Given the description of an element on the screen output the (x, y) to click on. 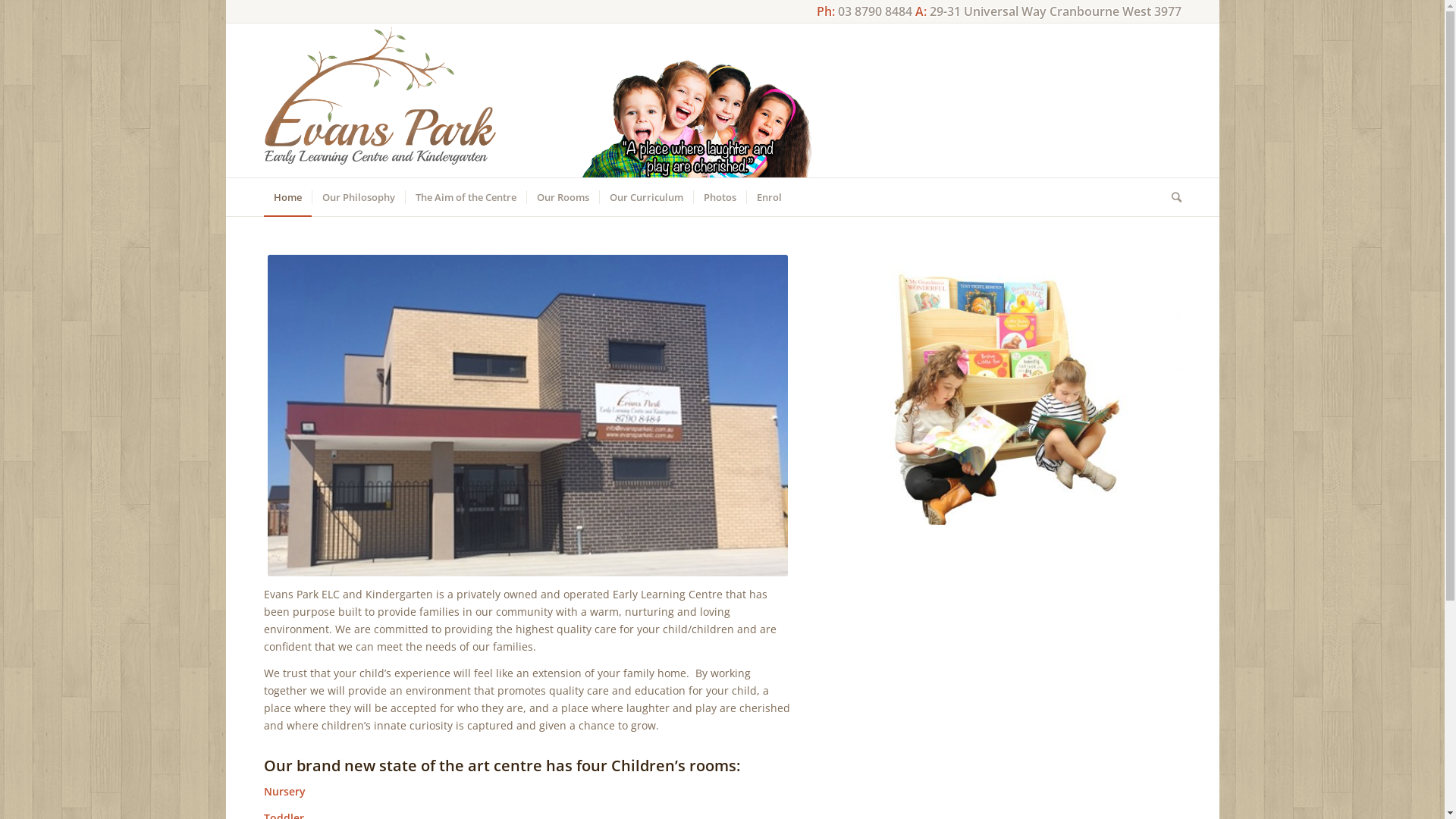
Our Rooms Element type: text (562, 197)
Photos Element type: text (719, 197)
Our Philosophy Element type: text (357, 197)
bookshelf-01 Element type: hover (1013, 389)
Evans Park Element type: hover (527, 415)
Our Curriculum Element type: text (646, 197)
Enrol Element type: text (768, 197)
Home Element type: text (287, 197)
The Aim of the Centre Element type: text (465, 197)
